Given the description of an element on the screen output the (x, y) to click on. 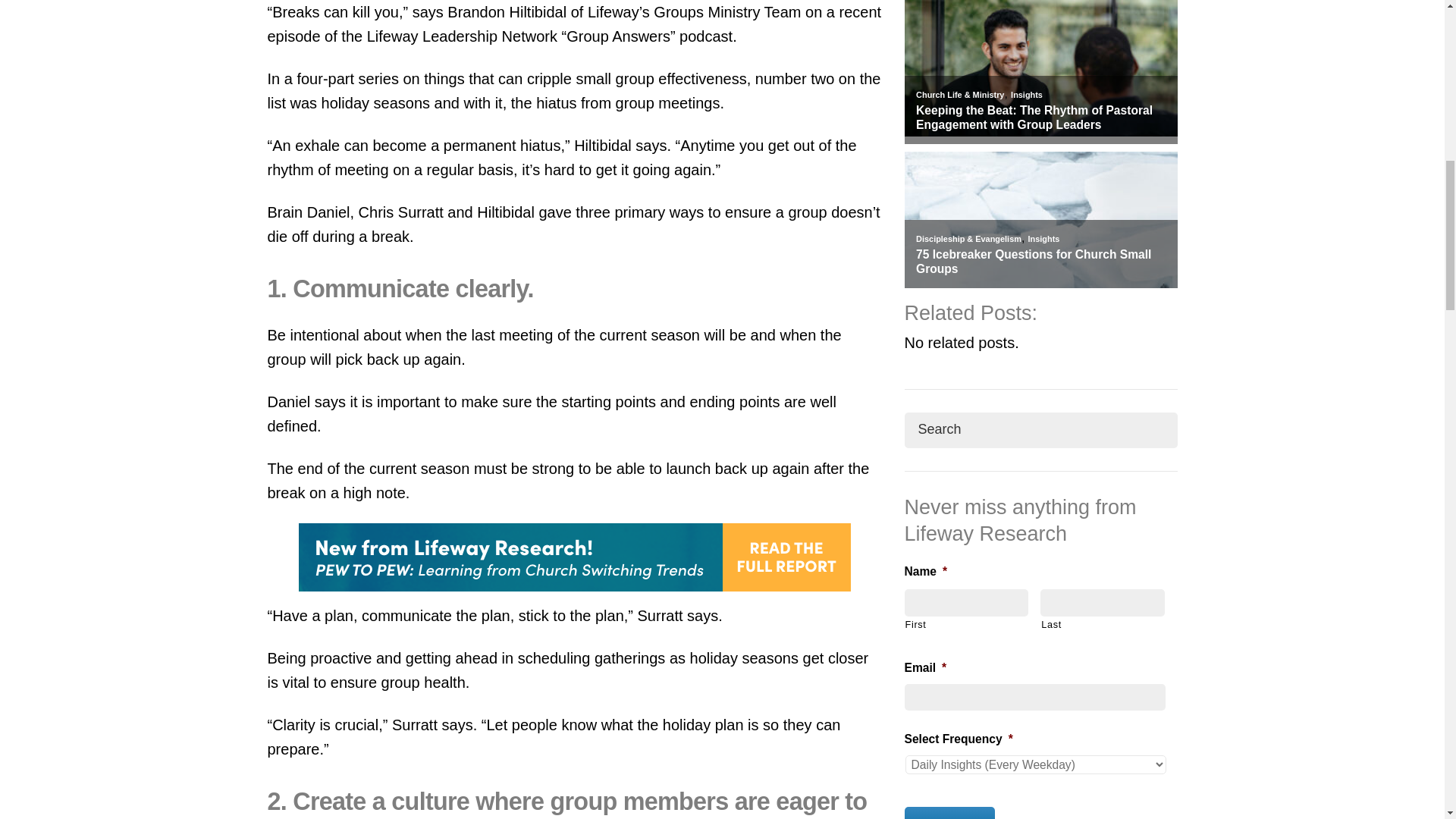
Submit (949, 812)
